Given the description of an element on the screen output the (x, y) to click on. 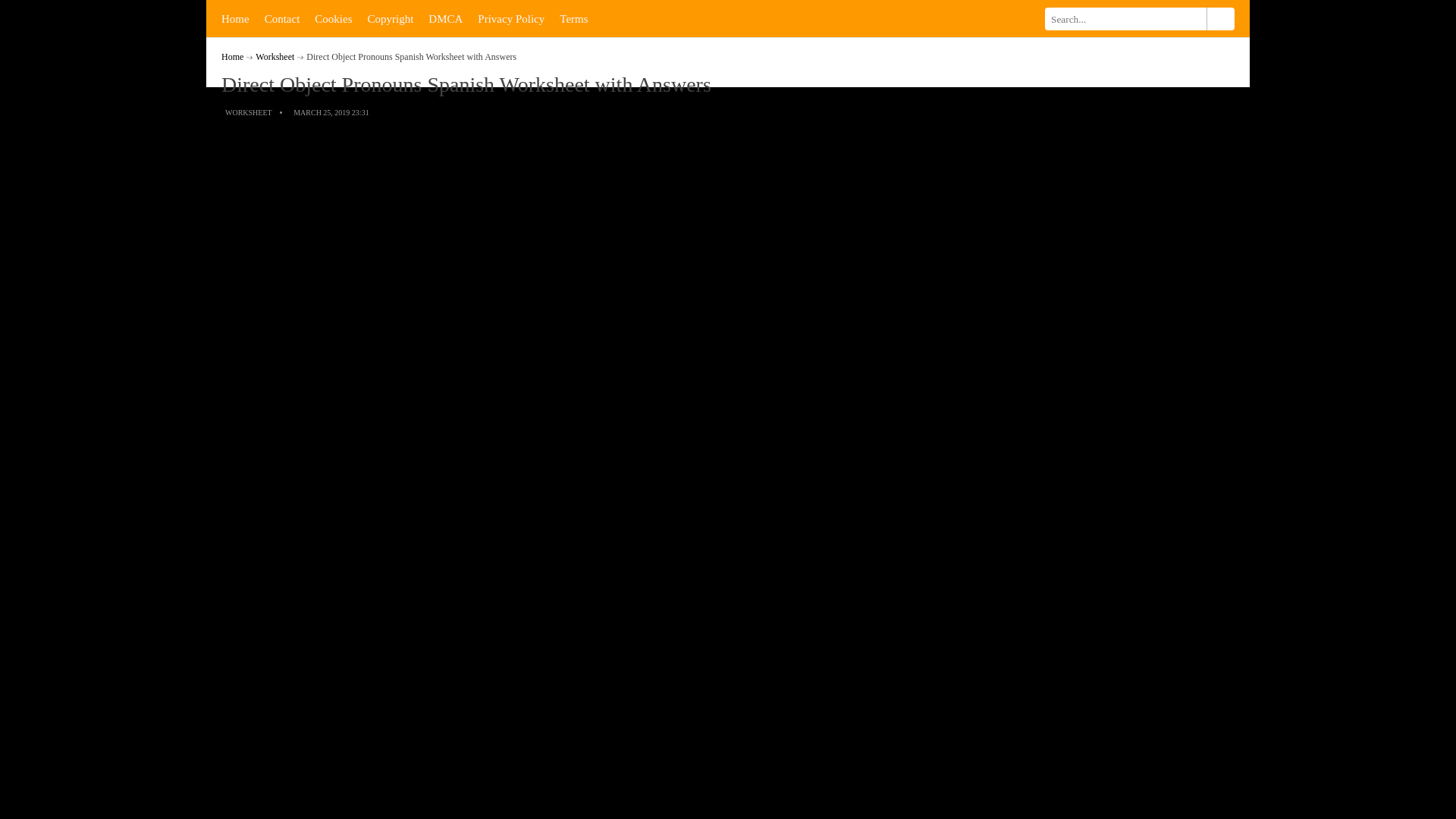
WORKSHEET (248, 112)
Search (1219, 18)
Worksheet (275, 56)
Cookies (333, 18)
DMCA (445, 18)
Home (235, 18)
Terms (573, 18)
Home (232, 56)
Copyright (389, 18)
Privacy Policy (510, 18)
